Given the description of an element on the screen output the (x, y) to click on. 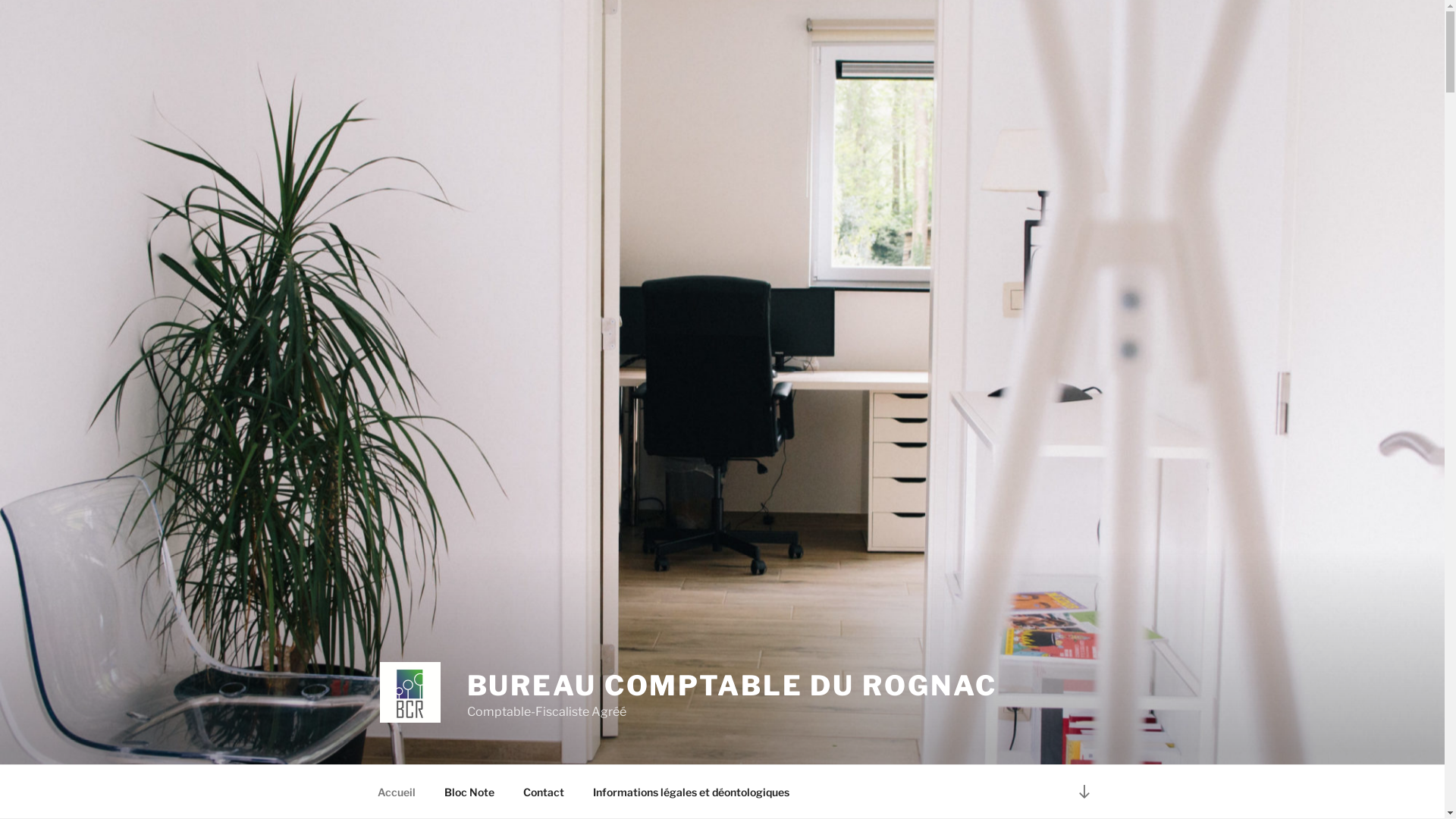
Accueil Element type: text (396, 791)
Bloc Note Element type: text (468, 791)
Scroll down to content Element type: text (1083, 790)
Contact Element type: text (543, 791)
BUREAU COMPTABLE DU ROGNAC Element type: text (732, 685)
